Given the description of an element on the screen output the (x, y) to click on. 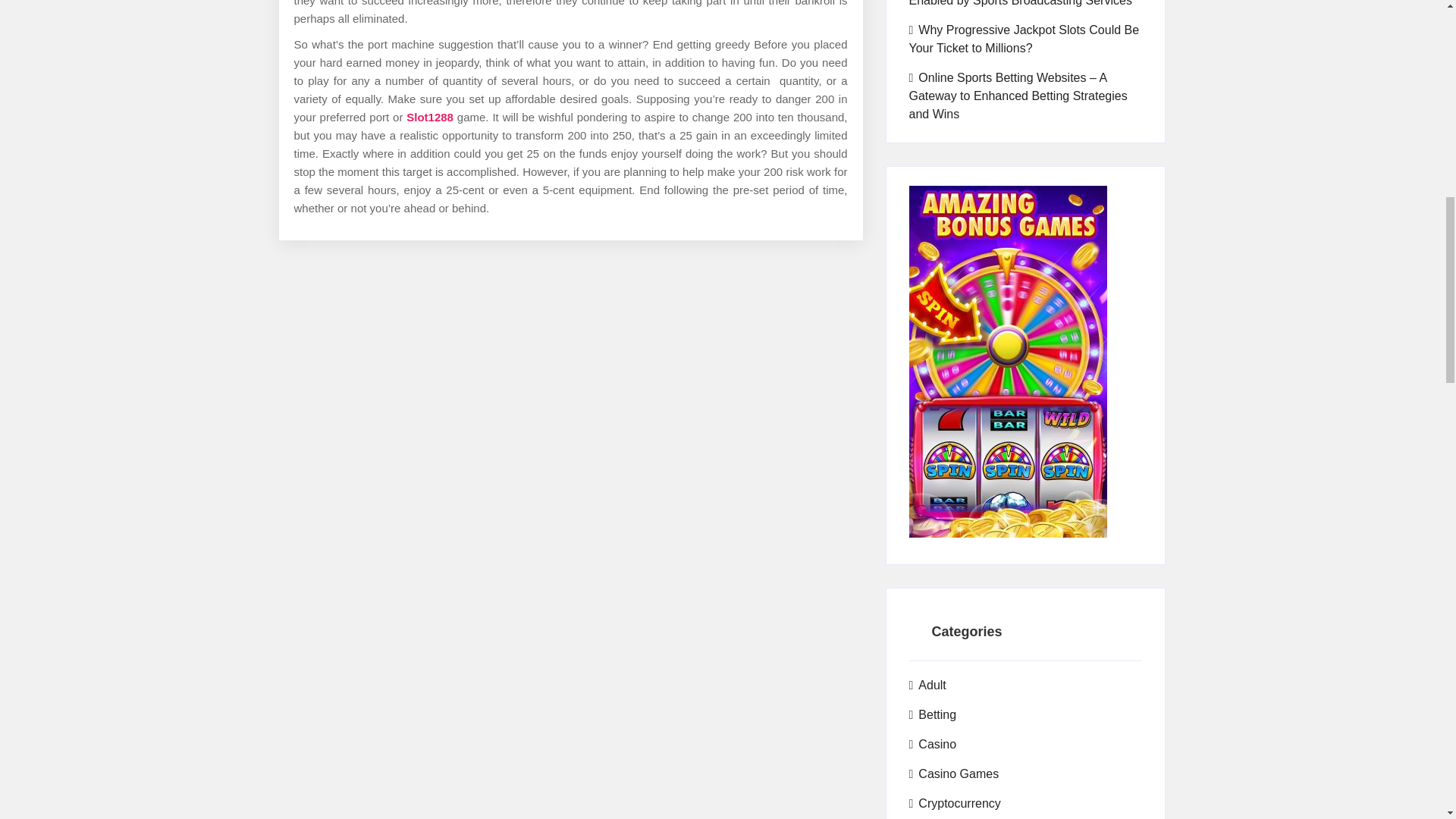
Adult (926, 685)
Cryptocurrency (954, 803)
Casino Games (953, 773)
Casino (932, 744)
Slot1288 (429, 117)
Betting (932, 714)
